Given the description of an element on the screen output the (x, y) to click on. 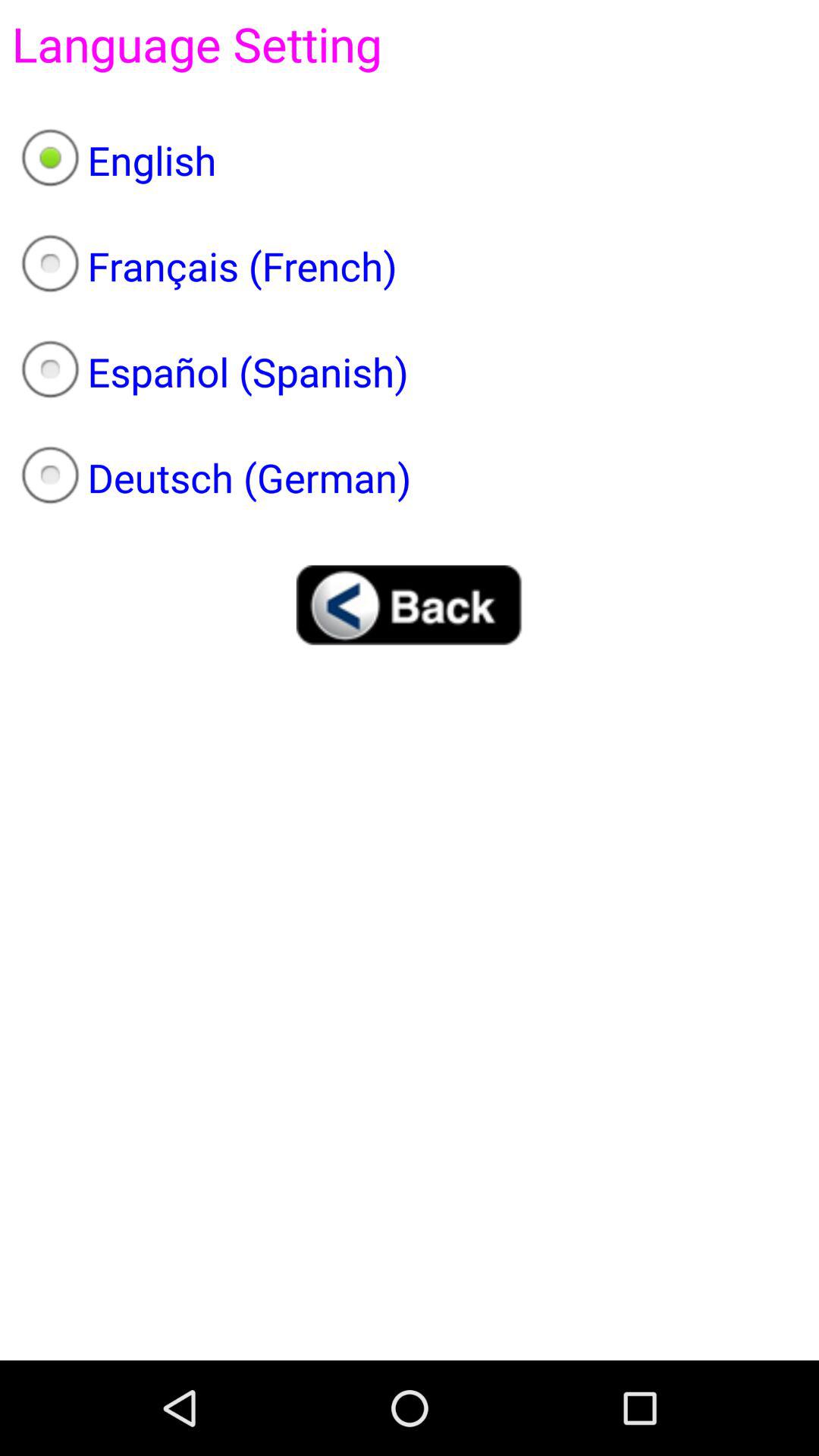
click app below the   app (409, 160)
